Given the description of an element on the screen output the (x, y) to click on. 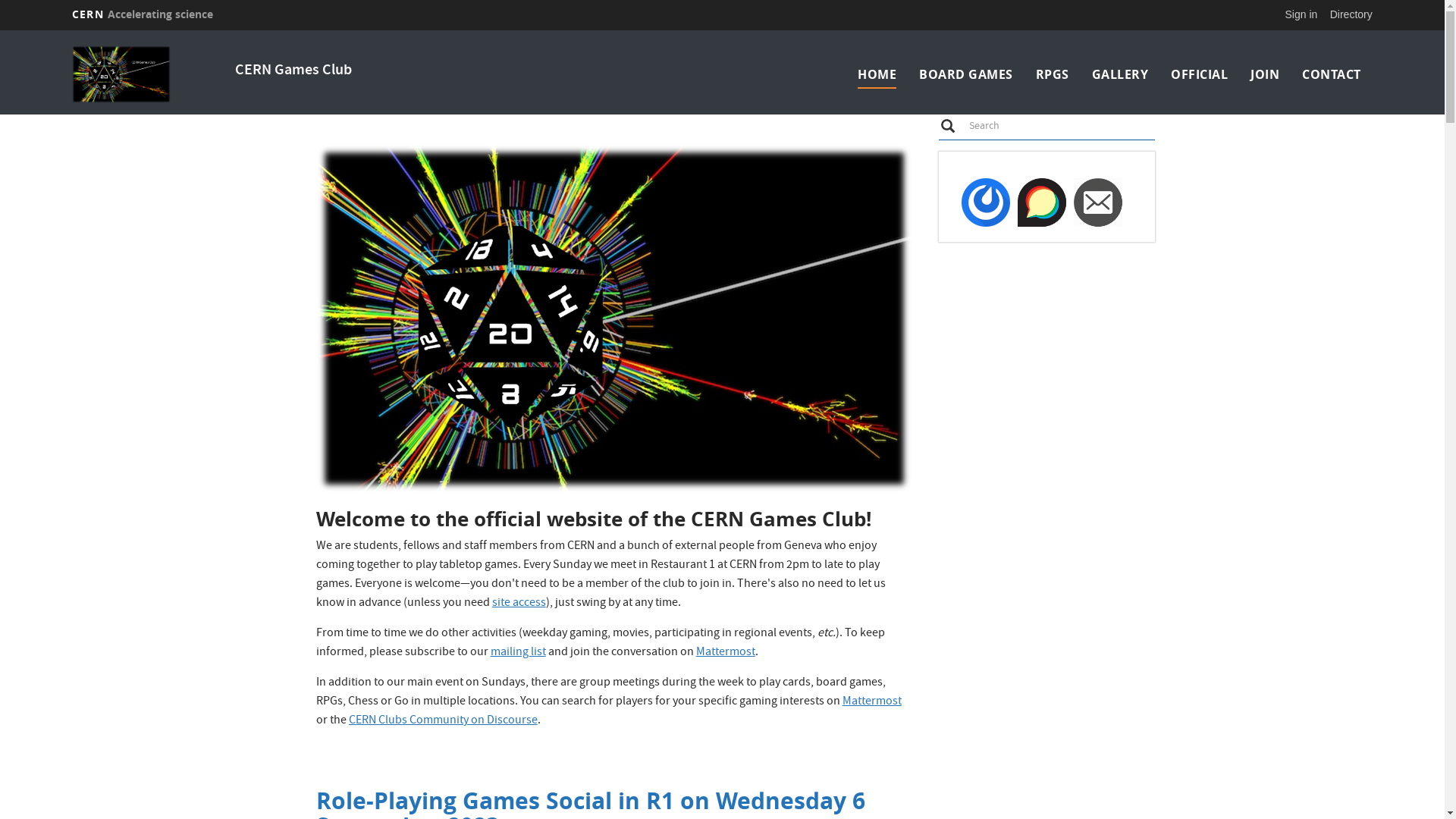
CERN Clubs Community on Discourse Element type: text (442, 721)
BOARD GAMES Element type: text (966, 74)
JOIN Element type: text (1264, 74)
mailing list Element type: text (518, 652)
CONTACT Element type: text (1331, 74)
RPGS Element type: text (1052, 74)
site access Element type: text (519, 603)
Search Element type: text (947, 124)
Home Element type: hover (149, 74)
Sign in Element type: text (1301, 14)
CERN Games Club Element type: text (293, 70)
Directory Element type: text (1351, 14)
GALLERY Element type: text (1120, 74)
CERN Accelerating science Element type: text (142, 14)
Skip to main content Element type: text (0, 30)
OFFICIAL Element type: text (1198, 74)
Mattermost Element type: text (725, 652)
HOME Element type: text (876, 74)
Mattermost Element type: text (871, 702)
